Given the description of an element on the screen output the (x, y) to click on. 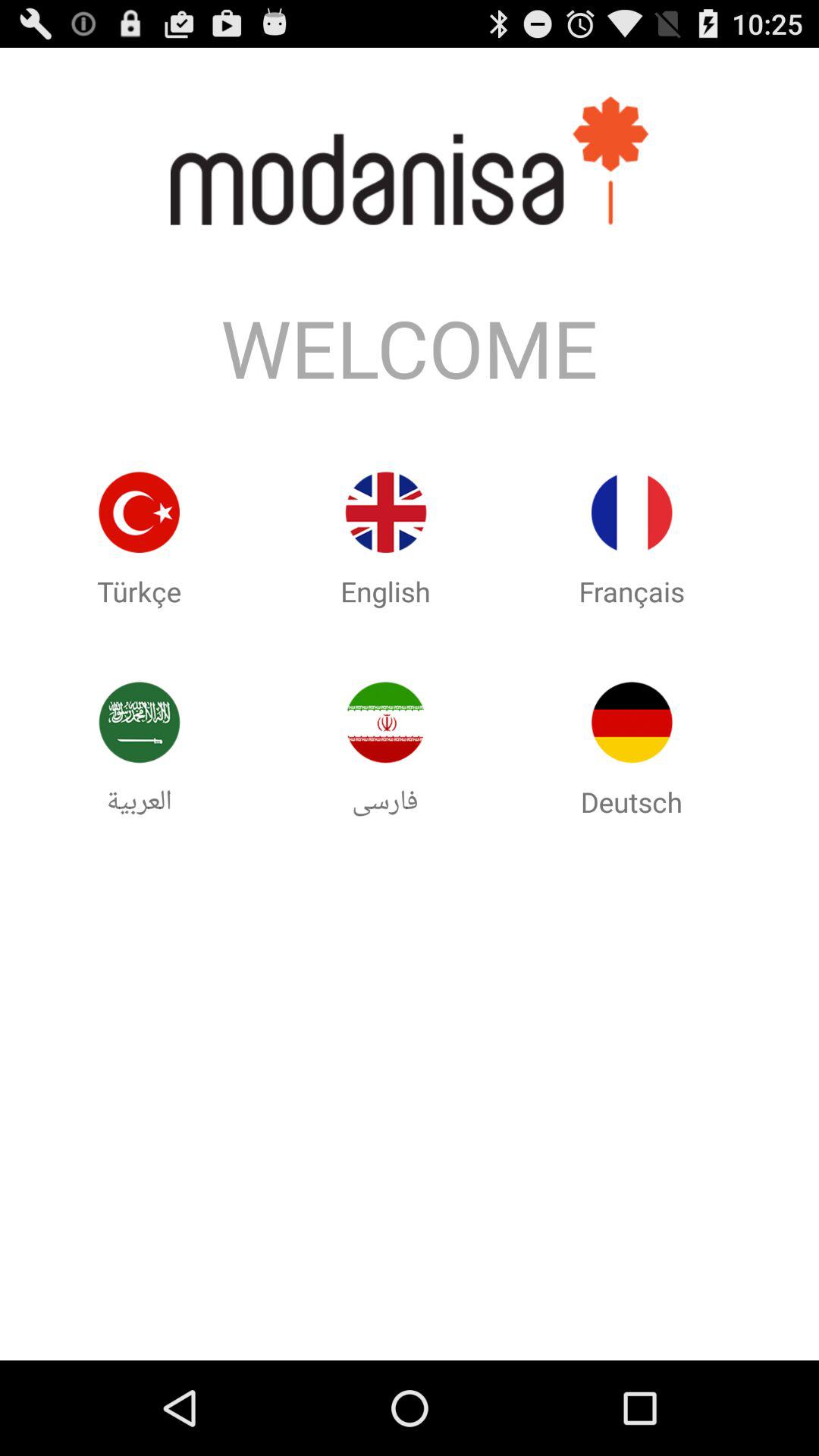
selects saudi arabia as your current location (138, 722)
